Given the description of an element on the screen output the (x, y) to click on. 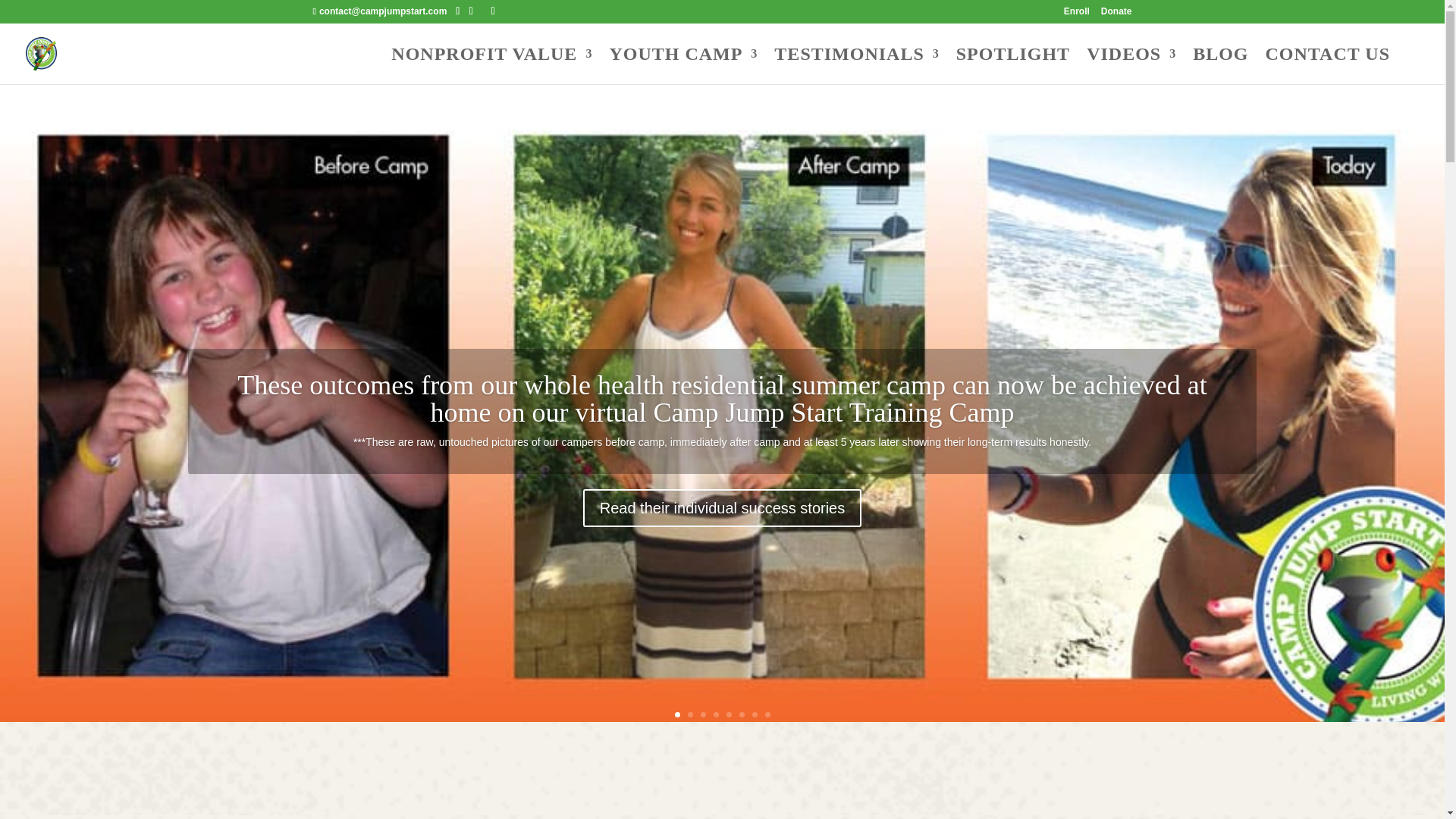
YOUTH CAMP (682, 66)
NONPROFIT VALUE (491, 66)
CONTACT US (1327, 66)
Enroll (1076, 14)
Donate (1116, 14)
TESTIMONIALS (856, 66)
VIDEOS (1131, 66)
BLOG (1219, 66)
SPOTLIGHT (1013, 66)
